Given the description of an element on the screen output the (x, y) to click on. 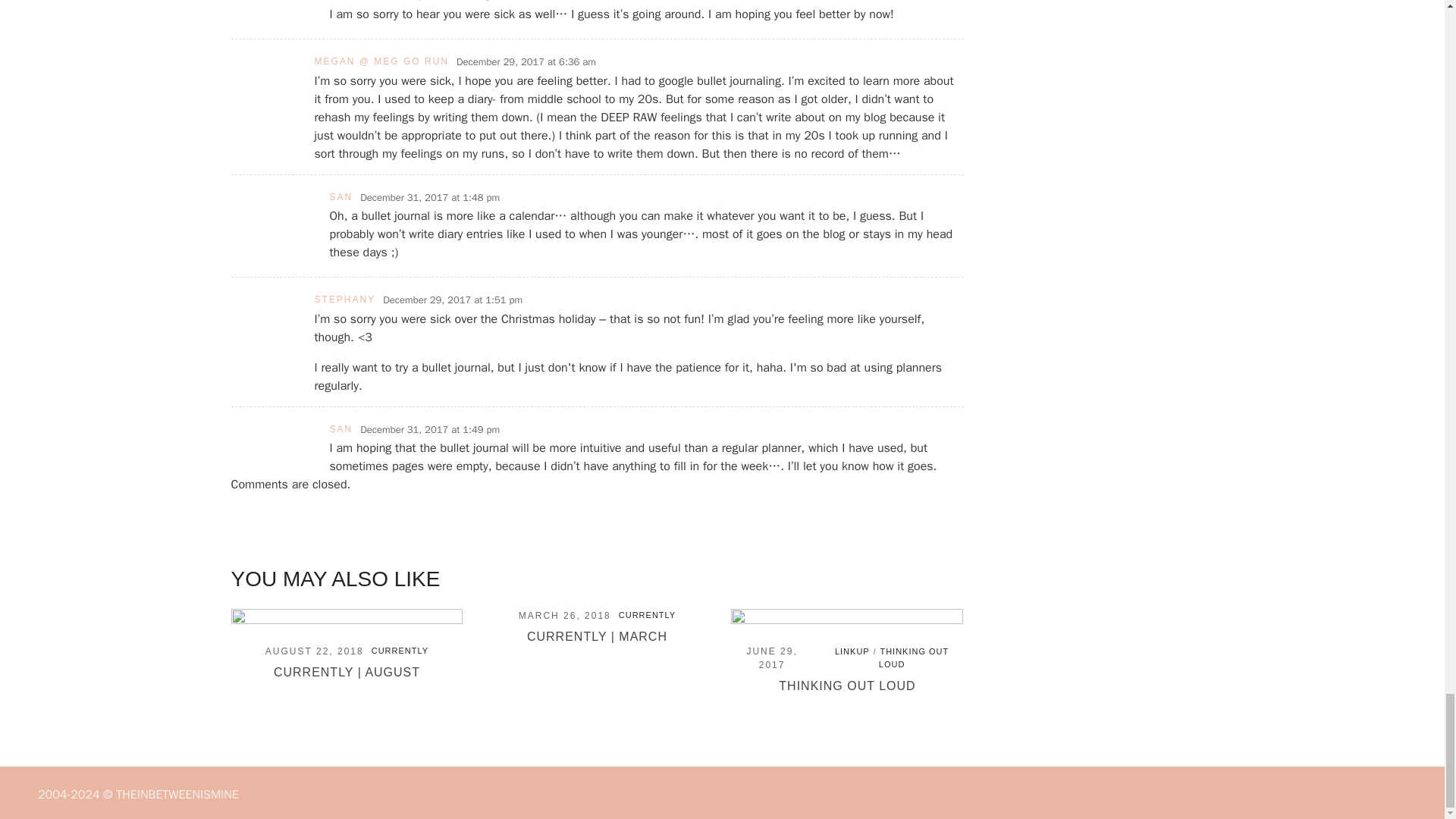
SAN (340, 196)
December 29, 2017 at 6:36 am (526, 61)
December 31, 2017 at 1:47 pm (429, 2)
